Given the description of an element on the screen output the (x, y) to click on. 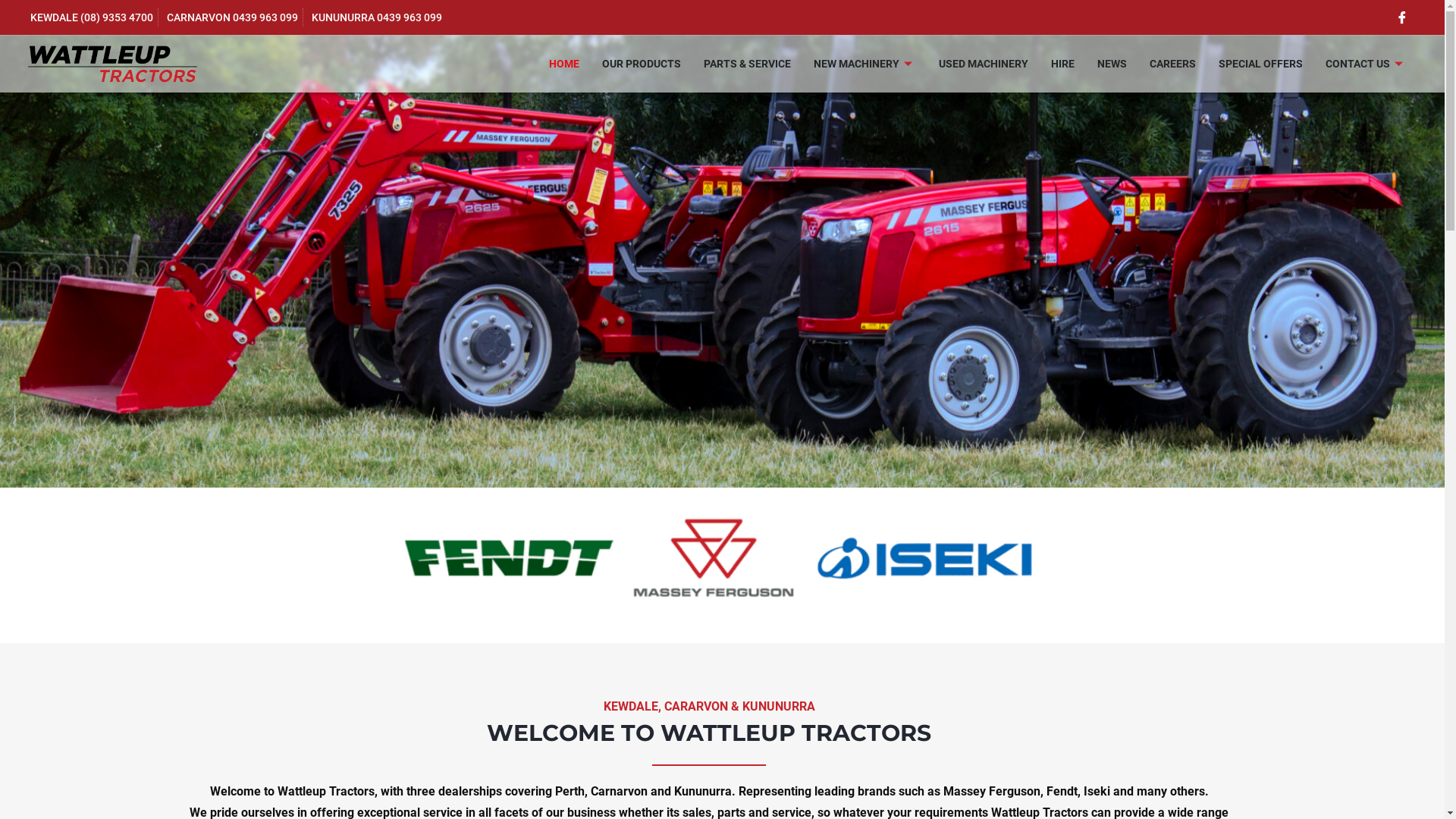
KUNUNURRA 0439 963 099 Element type: text (374, 17)
HOME Element type: text (563, 63)
KEWDALE (08) 9353 4700 Element type: text (89, 17)
CAREERS Element type: text (1172, 63)
PARTS & SERVICE Element type: text (747, 63)
NEW MACHINERY Element type: text (864, 63)
USED MACHINERY Element type: text (983, 63)
CONTACT US Element type: text (1366, 63)
CARNARVON 0439 963 099 Element type: text (230, 17)
HIRE Element type: text (1062, 63)
SPECIAL OFFERS Element type: text (1260, 63)
NEWS Element type: text (1111, 63)
OUR PRODUCTS Element type: text (641, 63)
